Given the description of an element on the screen output the (x, y) to click on. 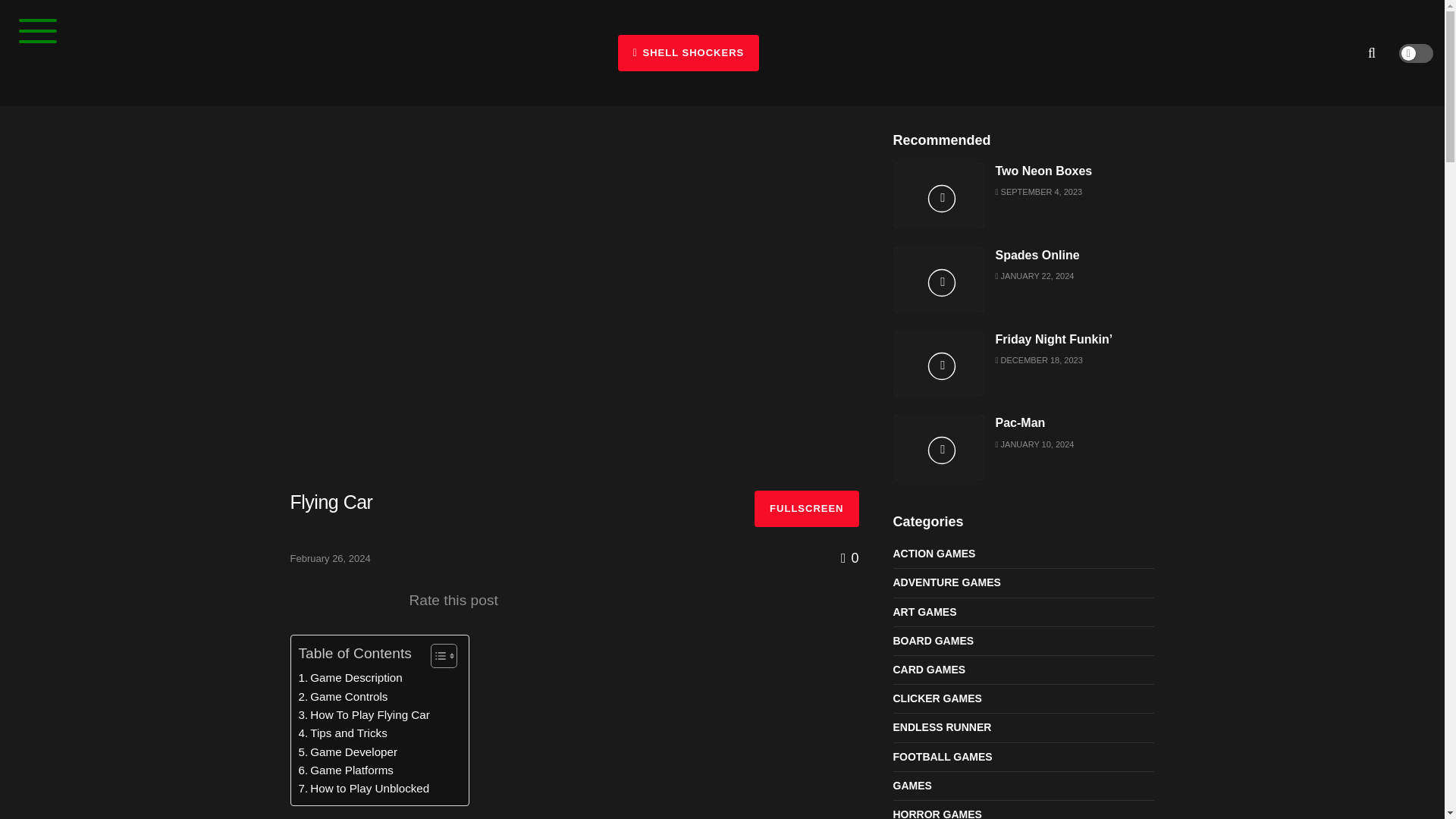
Game Platforms (345, 770)
Game Controls (343, 696)
Tips and Tricks (342, 732)
Tips and Tricks (342, 732)
Game Description (350, 678)
FULLSCREEN (806, 508)
0 (850, 557)
How To Play Flying Car (363, 714)
Game Platforms (345, 770)
Game Developer (347, 751)
SHELL SHOCKERS (687, 53)
How to Play Unblocked (363, 788)
How to Play Unblocked (363, 788)
How To Play Flying Car (363, 714)
Game Controls (343, 696)
